Given the description of an element on the screen output the (x, y) to click on. 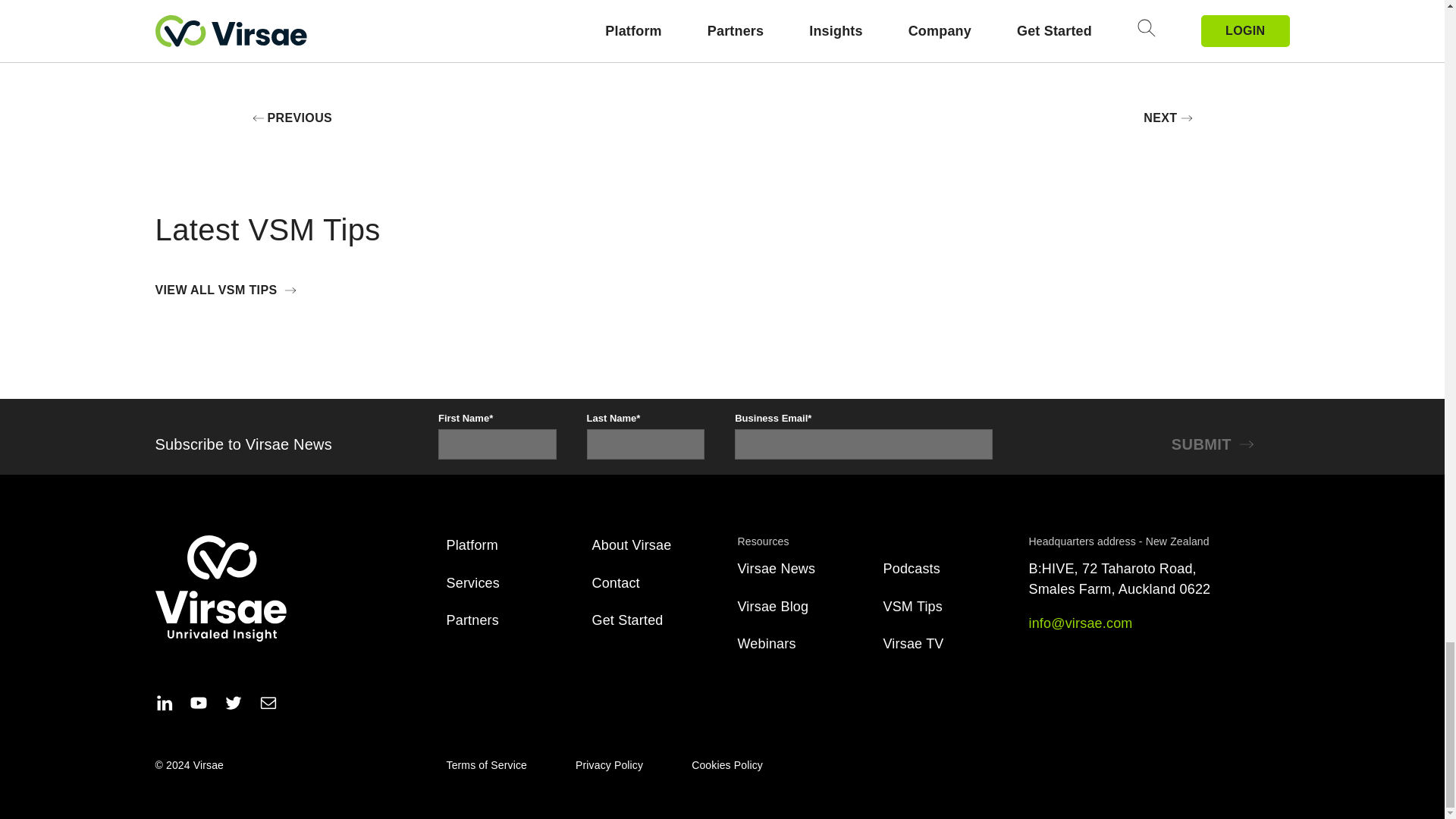
VIEW ALL VSM TIPS (229, 290)
Virsae.Web.Models.PublishedContentModels.BlogLanding?.Name (765, 643)
Virsae.Web.Models.PublishedContentModels.BlogLanding?.Name (910, 568)
Privacy Policy (609, 765)
Virsae.Web.Models.PublishedContentModels.BlogLanding?.Name (772, 606)
Partners (471, 620)
SUBMIT (1217, 444)
Youtube (198, 705)
Terms of Service (486, 765)
PREVIOUS (291, 117)
Cookies Policy (726, 765)
Services (472, 582)
Virsae.Web.Models.PublishedContentModels.BlogLanding?.Name (912, 643)
LinkedIn (163, 705)
NEXT (1167, 117)
